Given the description of an element on the screen output the (x, y) to click on. 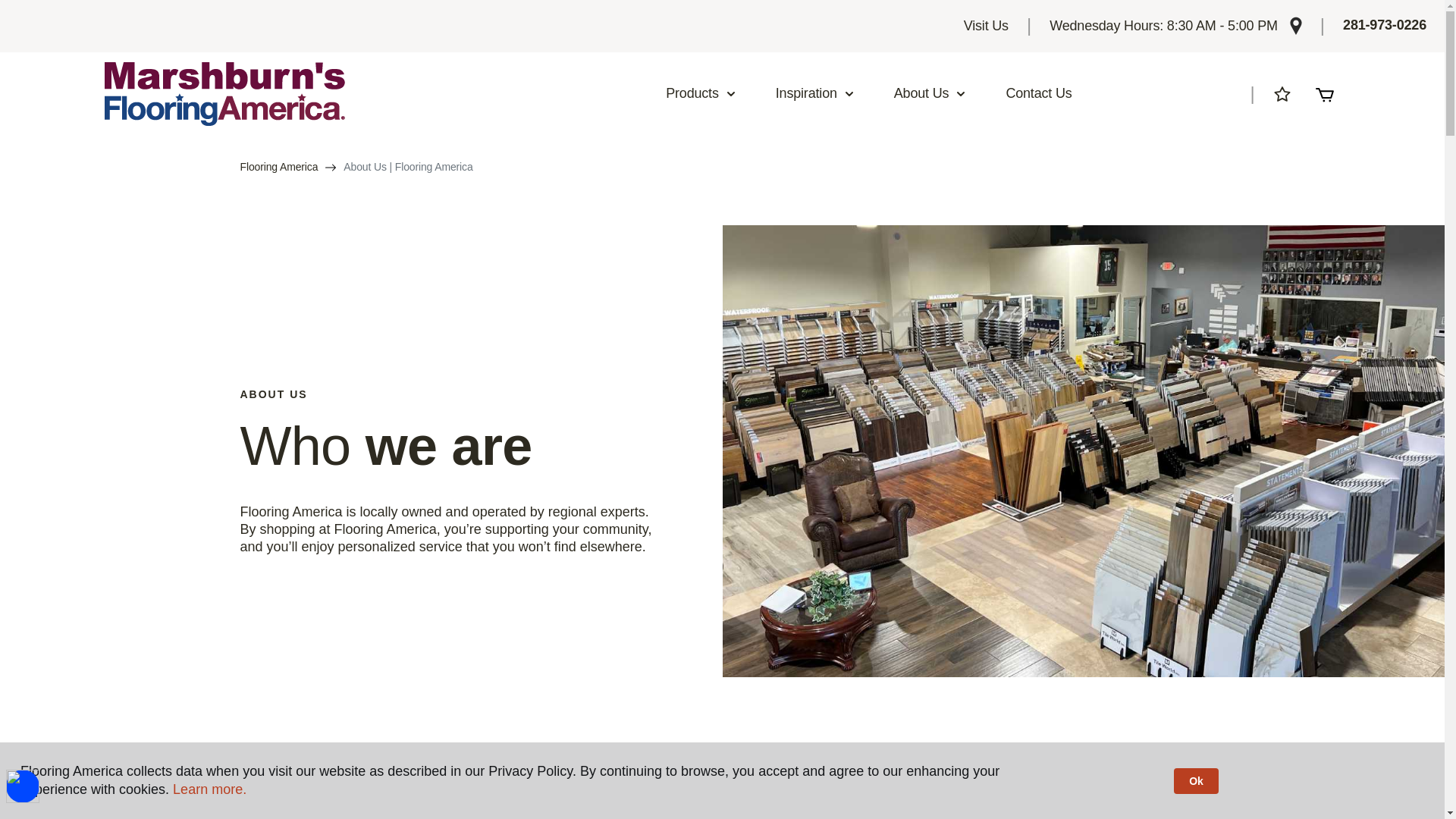
Products (700, 94)
Inspiration (815, 94)
281-973-0226 (1384, 25)
Contact Us (1038, 94)
Visit Us (986, 26)
About Us (930, 94)
Accessibility Menu (22, 786)
